Given the description of an element on the screen output the (x, y) to click on. 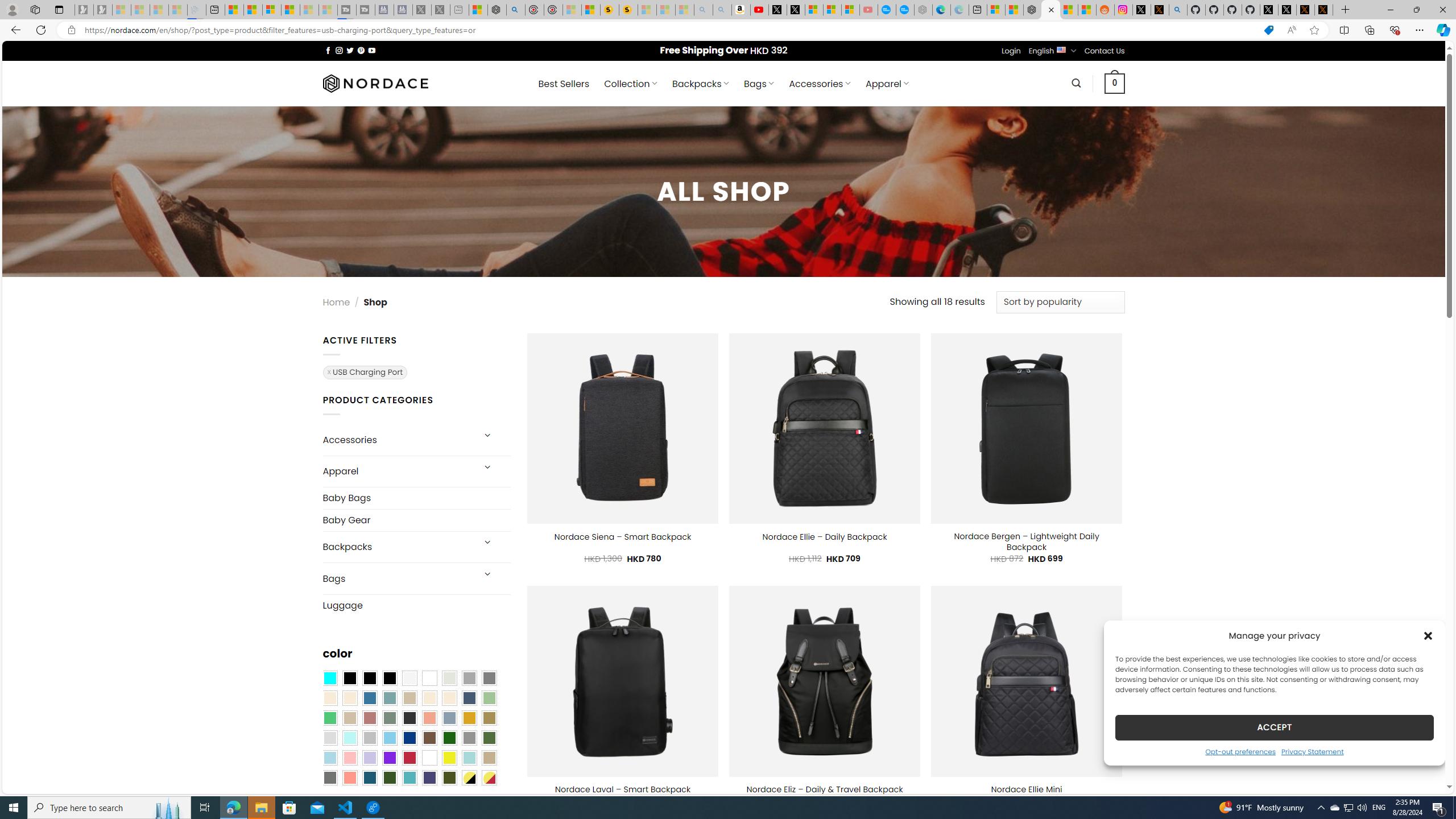
Baby Gear (416, 520)
Follow on Twitter (349, 49)
Sage (389, 717)
Contact Us (1104, 50)
Nordace - Summer Adventures 2024 (497, 9)
Luggage (416, 605)
Home (335, 301)
Black-Brown (389, 678)
Follow on YouTube (371, 49)
Apparel (397, 471)
ACCEPT (1274, 727)
